Given the description of an element on the screen output the (x, y) to click on. 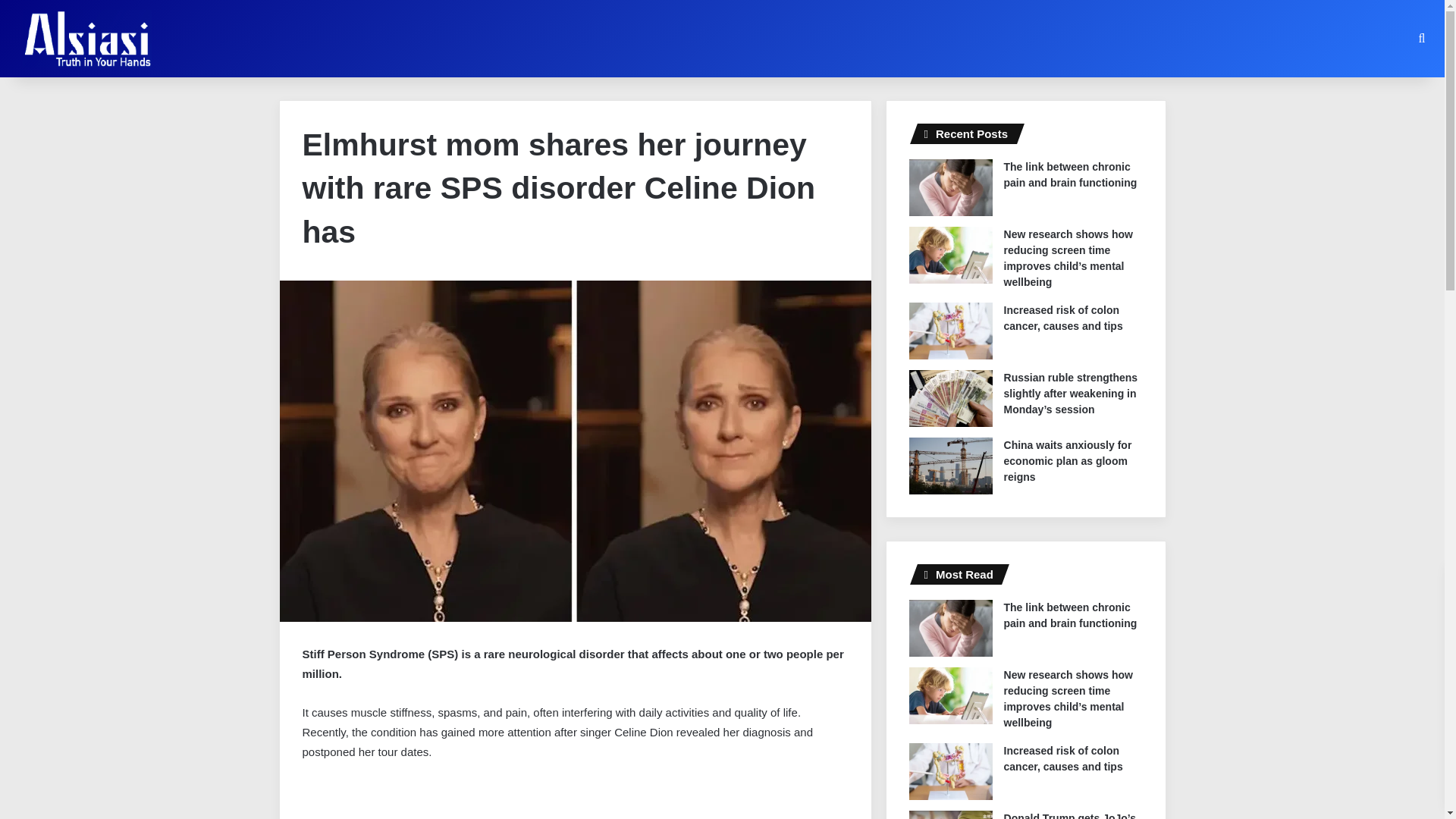
X Post (415, 800)
The link between chronic pain and brain functioning (1070, 174)
Increased risk of colon cancer, causes and tips (1063, 317)
Alsiasi (87, 38)
